Given the description of an element on the screen output the (x, y) to click on. 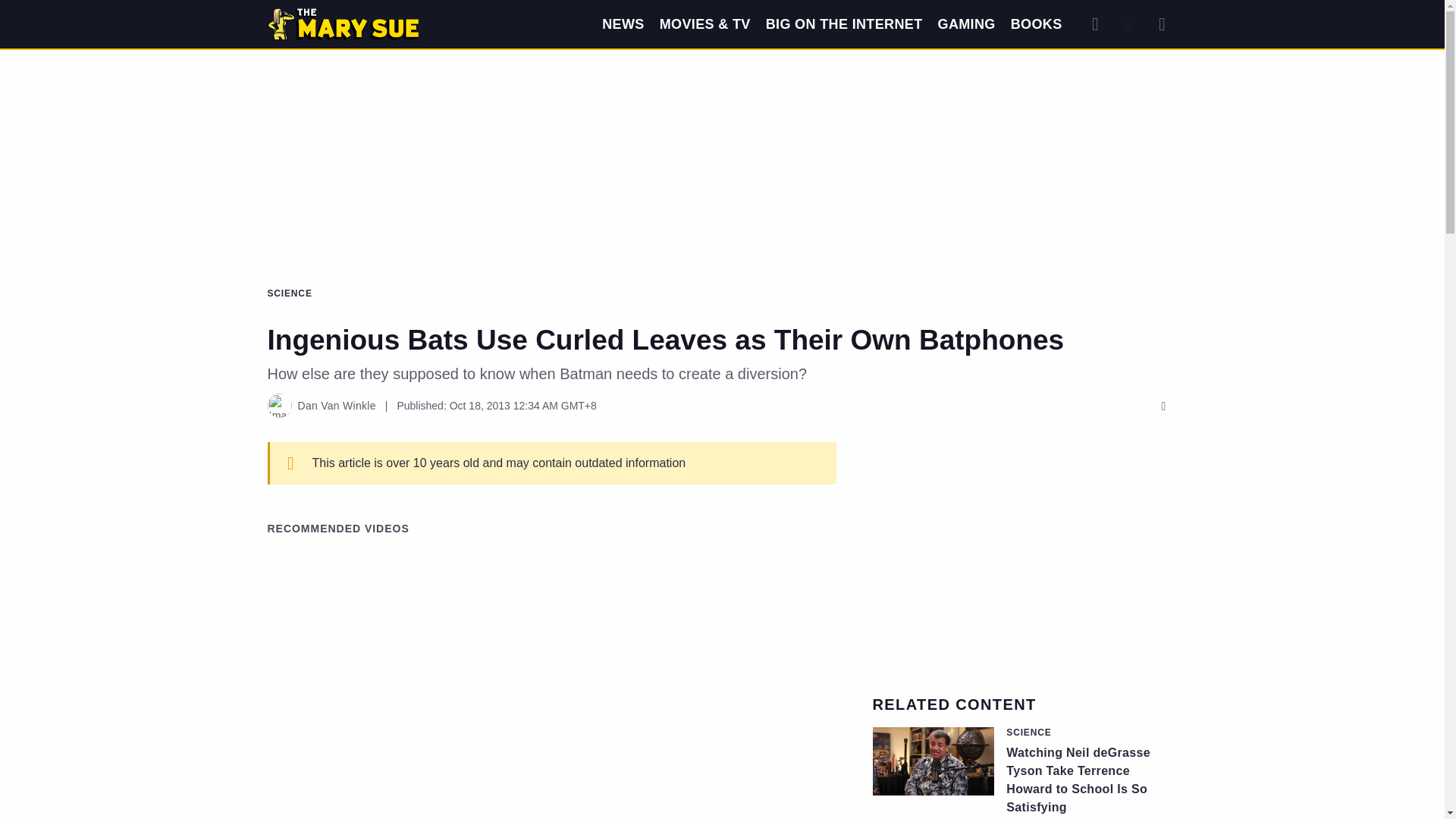
GAMING (966, 23)
Dark Mode (1127, 24)
Search (1094, 24)
BIG ON THE INTERNET (844, 23)
NEWS (622, 23)
BOOKS (1036, 23)
Expand Menu (1161, 24)
